Given the description of an element on the screen output the (x, y) to click on. 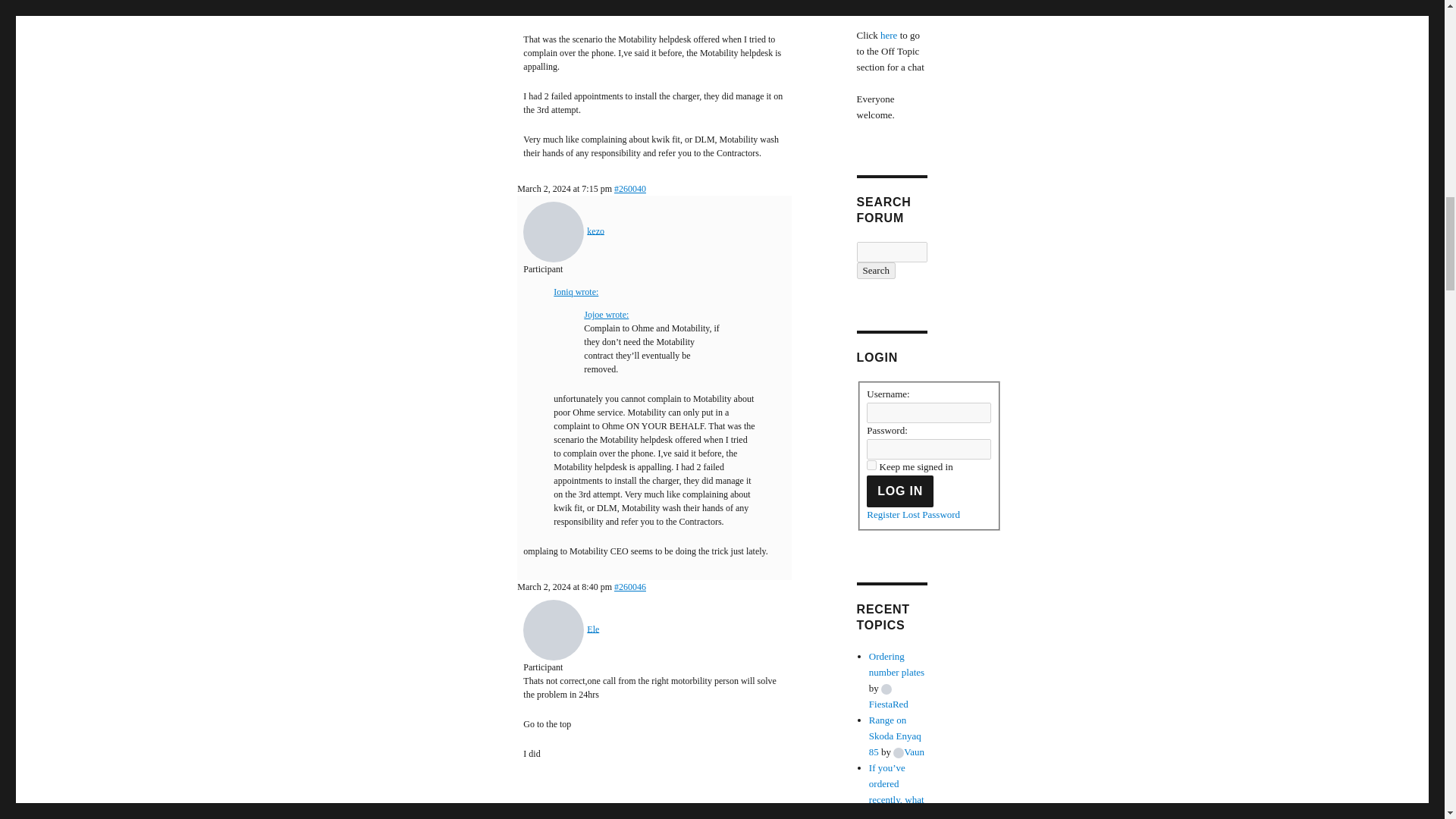
Jojoe wrote: (605, 314)
Ele (560, 628)
Ele (690, 812)
Search (876, 270)
kezo (563, 230)
View Ele's profile (690, 812)
View Ele's profile (560, 628)
forever (871, 465)
View kezo's profile (563, 230)
Ioniq wrote: (575, 291)
